Given the description of an element on the screen output the (x, y) to click on. 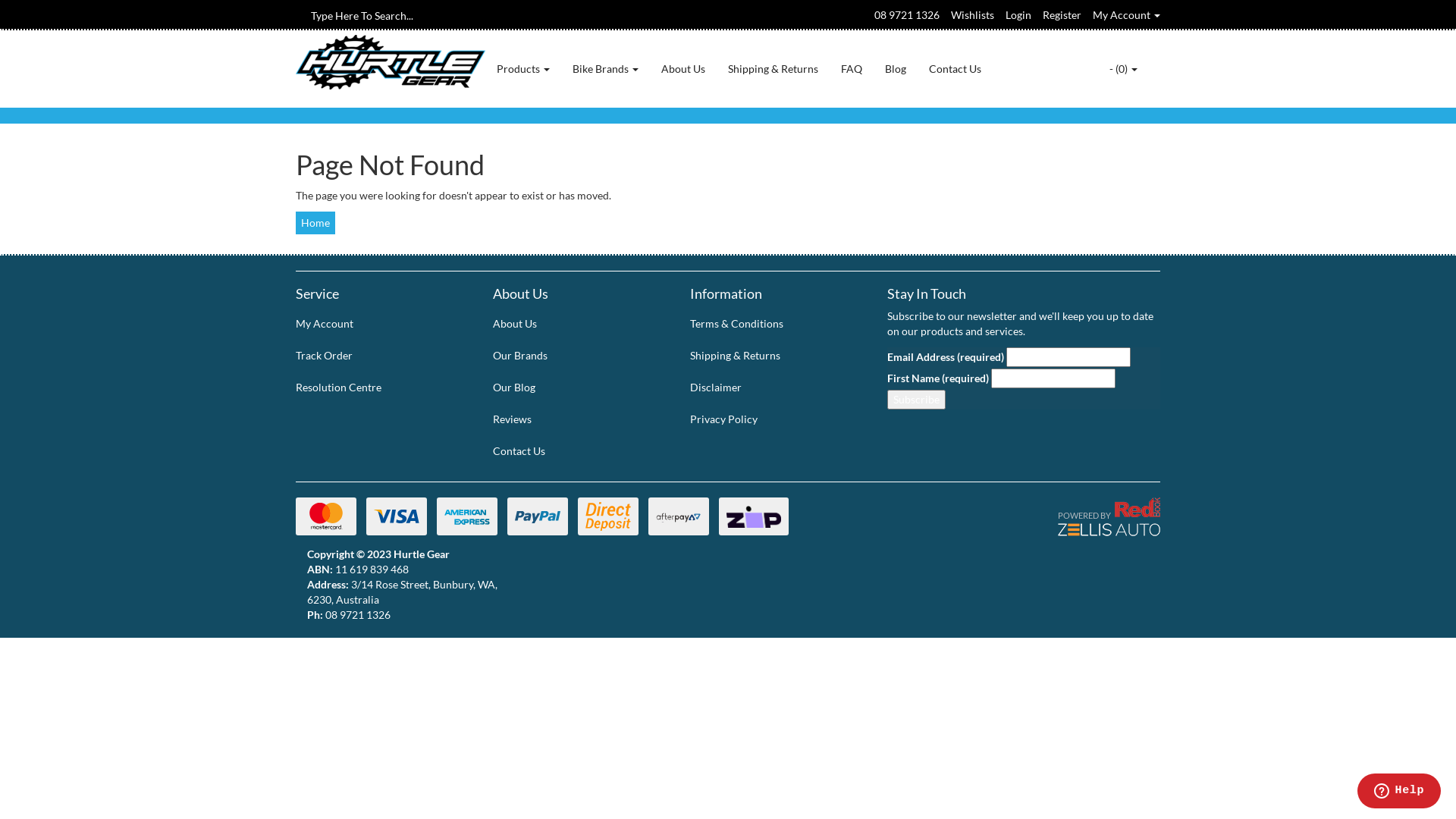
Login Element type: text (1018, 14)
Products Element type: text (523, 68)
Subscribe Element type: text (916, 399)
Shipping & Returns Element type: text (772, 68)
My Account Element type: text (377, 323)
FAQ Element type: text (851, 68)
About Us Element type: text (682, 68)
Register Element type: text (1061, 14)
Search Element type: text (300, 14)
Our Blog Element type: text (574, 387)
Our Brands Element type: text (574, 355)
Home Element type: text (315, 222)
POWERED BY Element type: text (1061, 520)
Contact Us Element type: text (954, 68)
About Us Element type: text (574, 323)
Disclaimer Element type: text (771, 387)
Contact Us Element type: text (574, 451)
Shipping & Returns Element type: text (771, 355)
Track Order Element type: text (377, 355)
Reviews Element type: text (574, 419)
My Account Element type: text (1126, 14)
08 9721 1326 Element type: text (906, 14)
Privacy Policy Element type: text (771, 419)
Opens a widget where you can find more information Element type: hover (1398, 792)
Resolution Centre Element type: text (377, 387)
Wishlists Element type: text (972, 14)
Bike Brands Element type: text (605, 68)
Terms & Conditions Element type: text (771, 323)
- (0) Element type: text (1123, 68)
Blog Element type: text (895, 68)
